Given the description of an element on the screen output the (x, y) to click on. 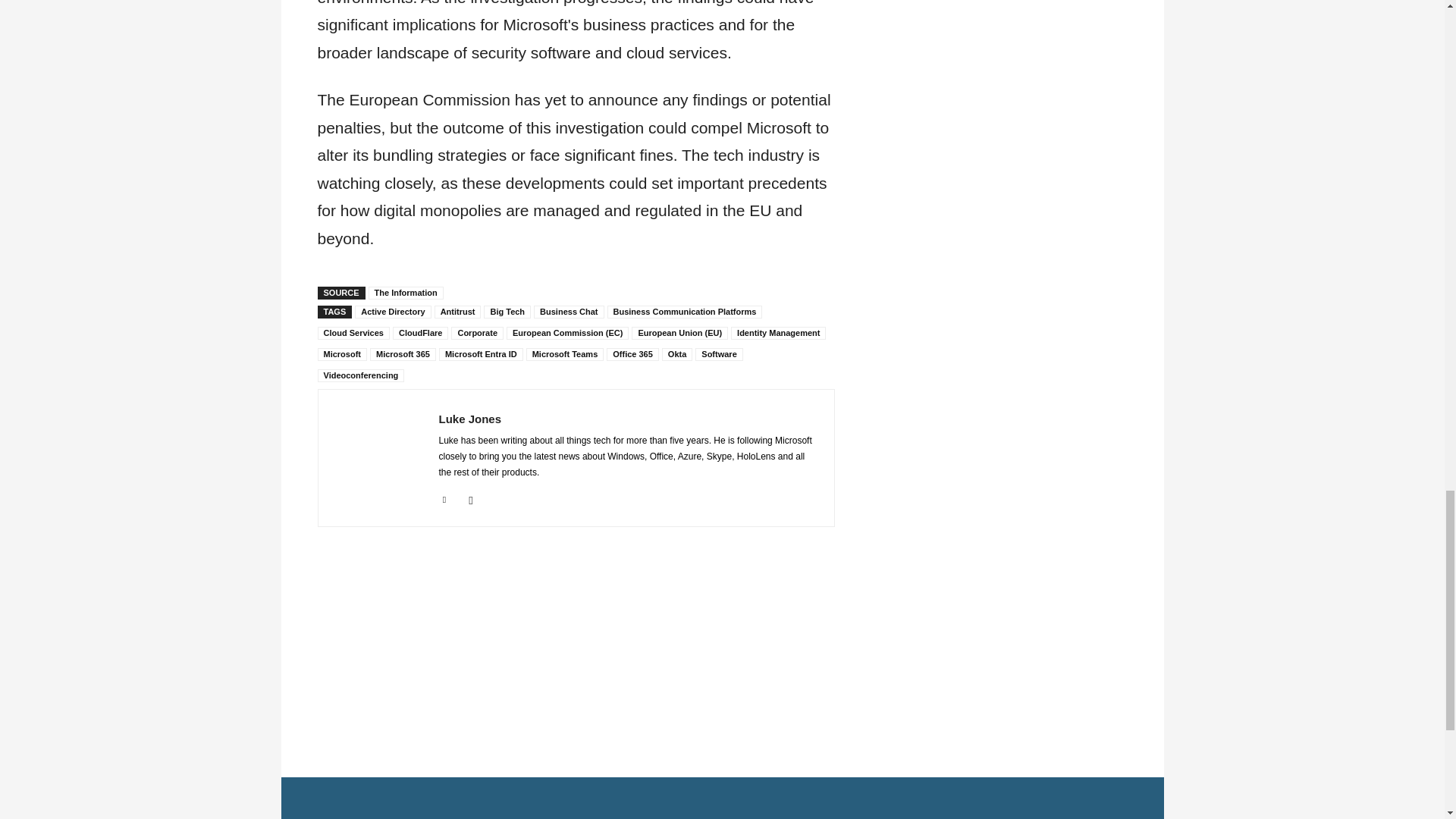
Mail (471, 496)
Linkedin (443, 496)
